Given the description of an element on the screen output the (x, y) to click on. 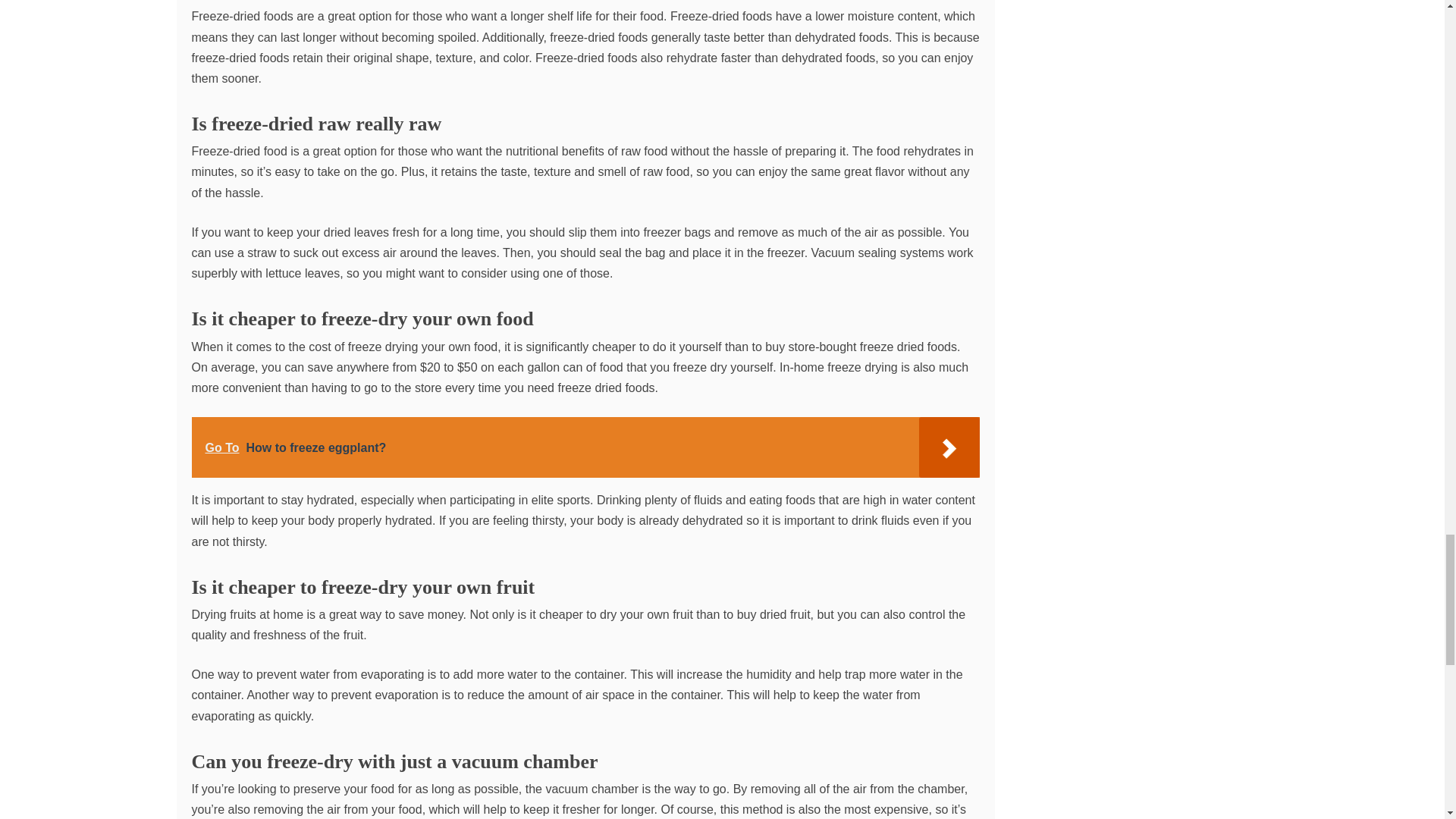
Go To  How to freeze eggplant? (584, 446)
